Given the description of an element on the screen output the (x, y) to click on. 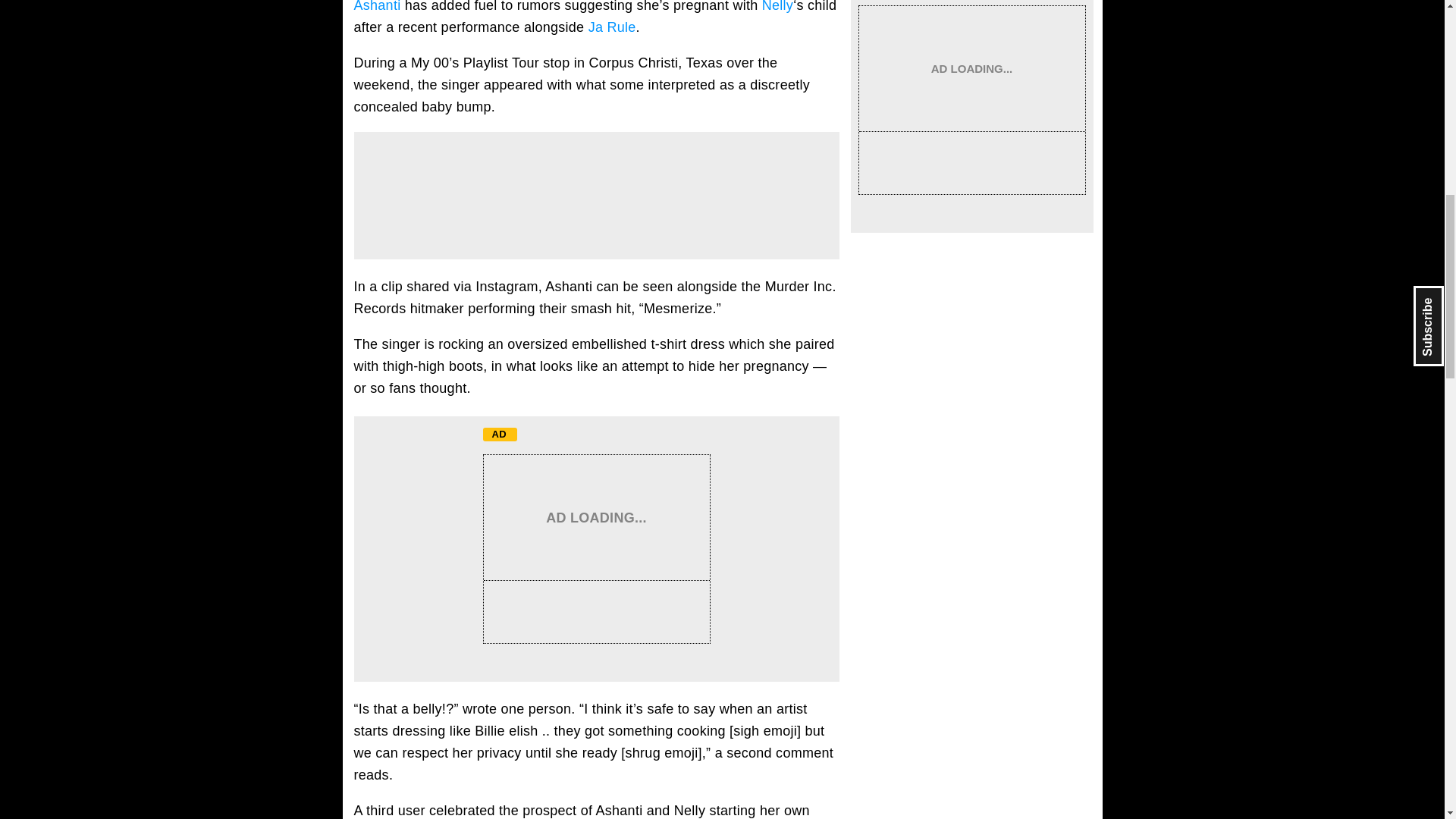
Ja Rule (612, 27)
Ashanti (376, 6)
Nelly (777, 6)
